Given the description of an element on the screen output the (x, y) to click on. 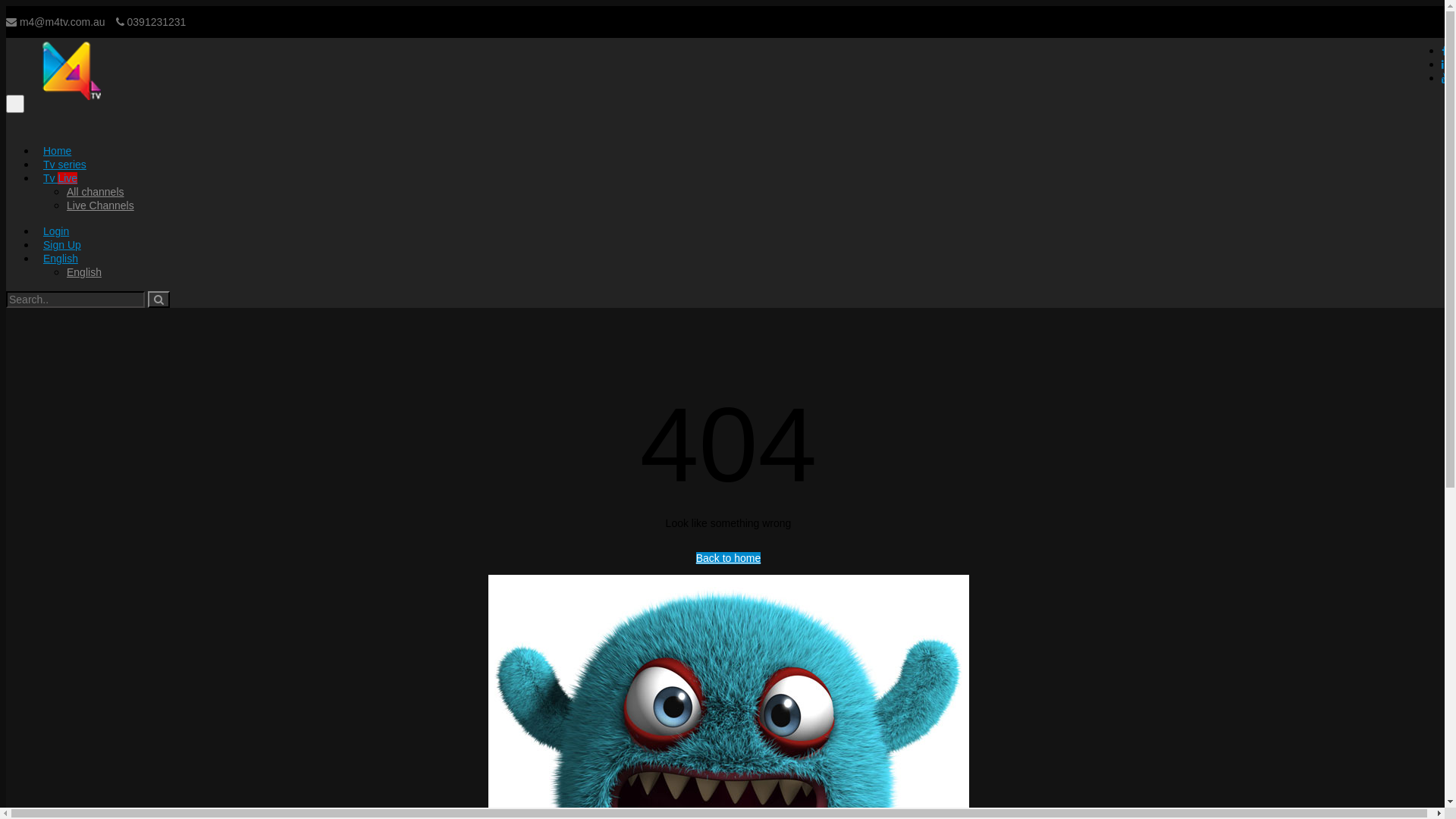
English Element type: text (83, 272)
m4@m4tv.com.au Element type: text (55, 21)
Sign Up Element type: text (61, 244)
English Element type: text (60, 258)
Toggle navigation Element type: text (15, 103)
0391231231 Element type: text (151, 21)
Live Channels Element type: text (100, 205)
Tv Live Element type: text (60, 177)
All channels Element type: text (95, 191)
Login Element type: text (55, 230)
Back to home Element type: text (728, 558)
Tv series Element type: text (64, 164)
Home Element type: text (57, 150)
